Given the description of an element on the screen output the (x, y) to click on. 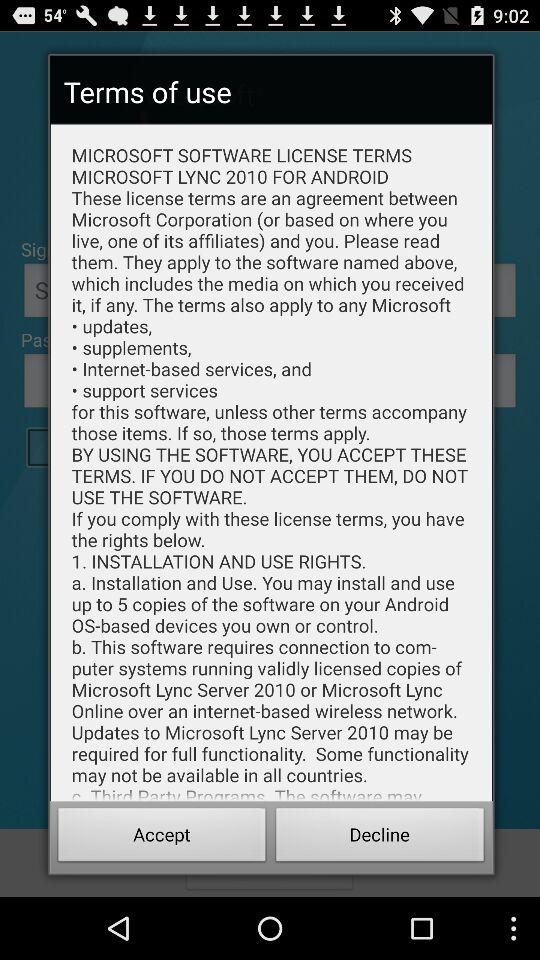
tap the item below the microsoft software license item (162, 837)
